Given the description of an element on the screen output the (x, y) to click on. 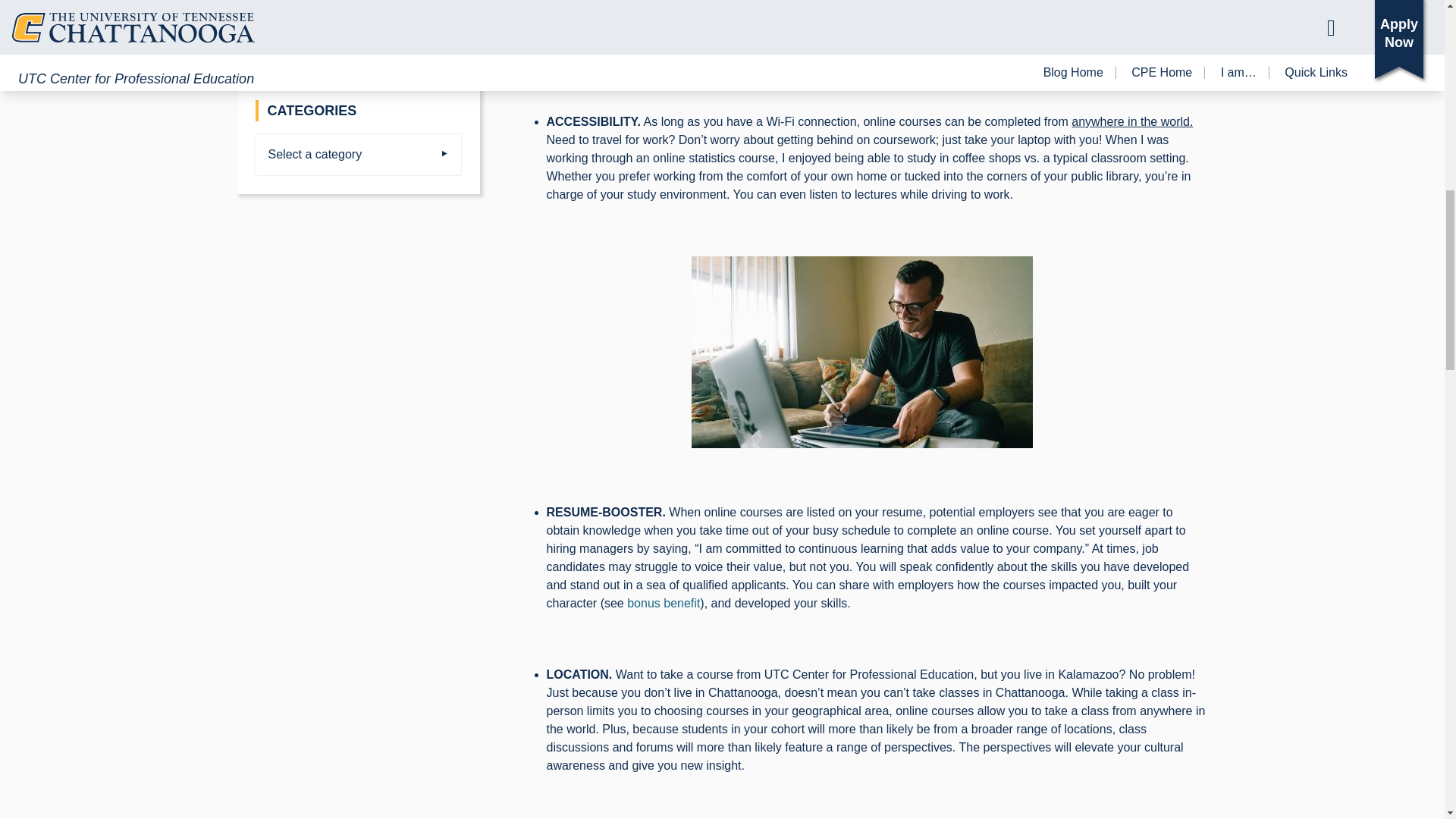
bonus benefit (663, 603)
